Given the description of an element on the screen output the (x, y) to click on. 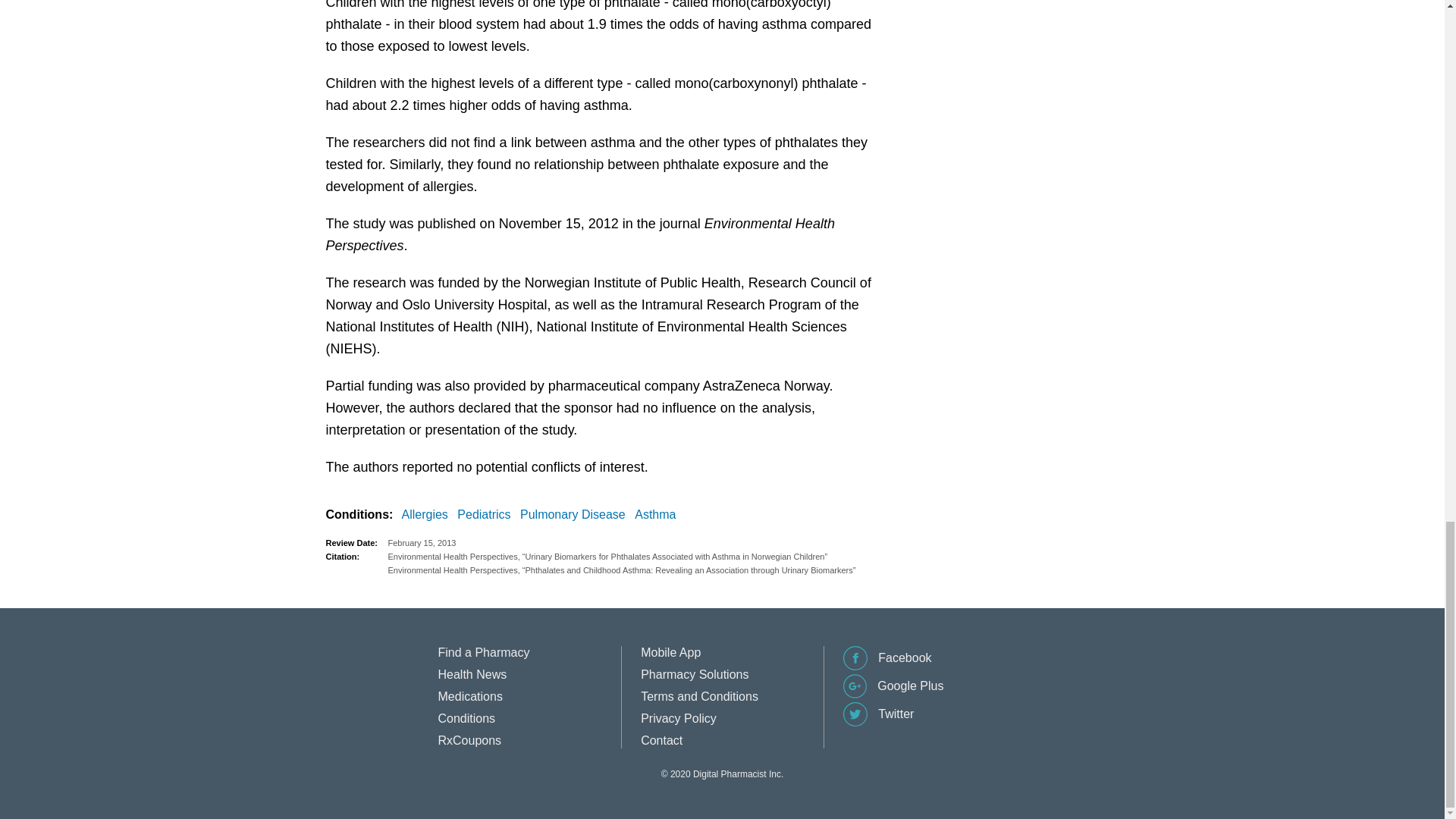
Asthma (657, 514)
Pulmonary Disease (575, 514)
Pediatrics (486, 514)
Allergies (427, 514)
